Given the description of an element on the screen output the (x, y) to click on. 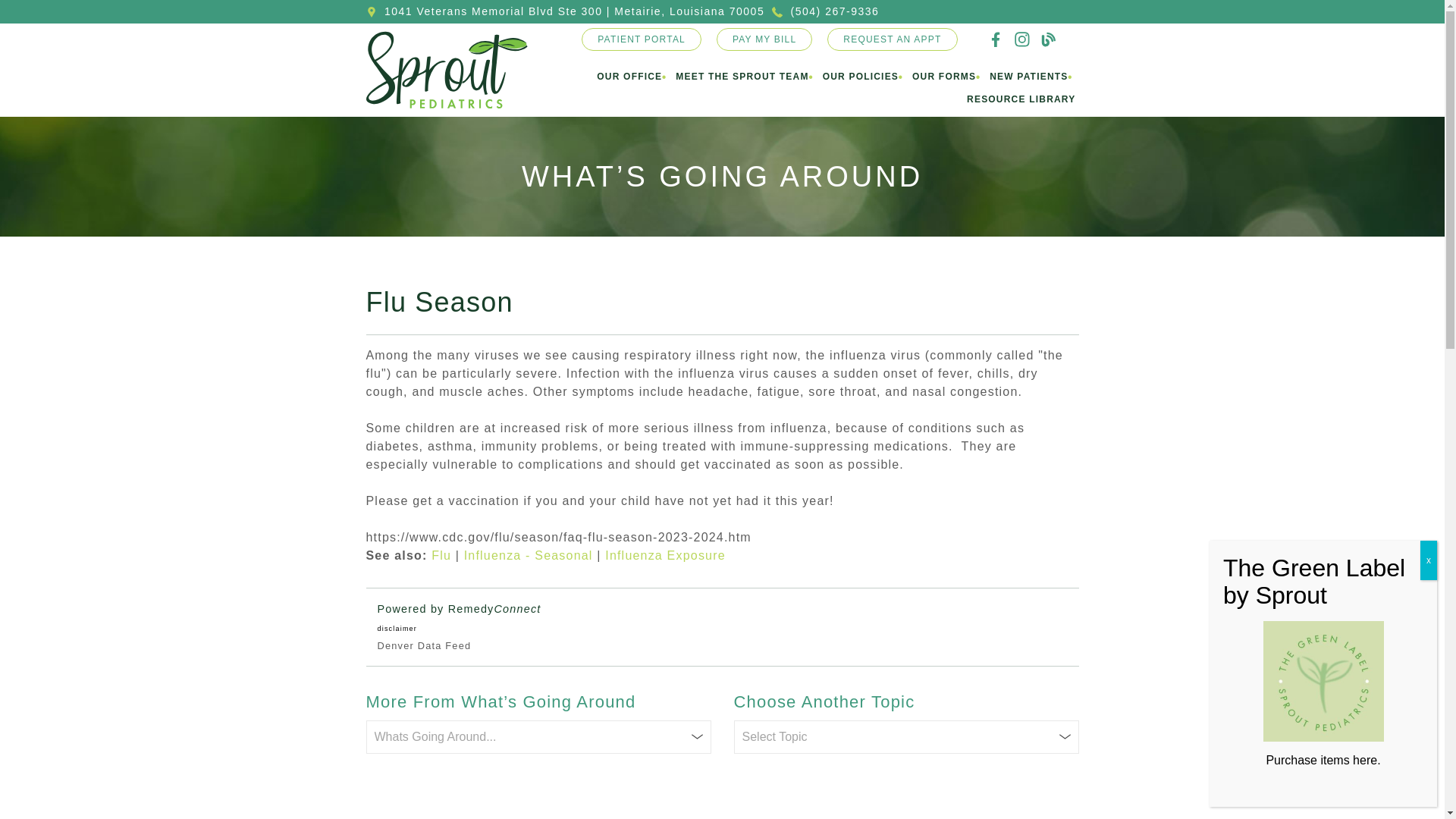
PAY MY BILL (764, 38)
OUR POLICIES (860, 77)
Powered by RemedyConnect (459, 608)
NEW PATIENTS (1028, 77)
PATIENT PORTAL (640, 38)
REQUEST AN APPT (891, 38)
disclaimer (397, 628)
Influenza Exposure (665, 554)
OUR OFFICE (629, 77)
RESOURCE LIBRARY (1020, 99)
